Given the description of an element on the screen output the (x, y) to click on. 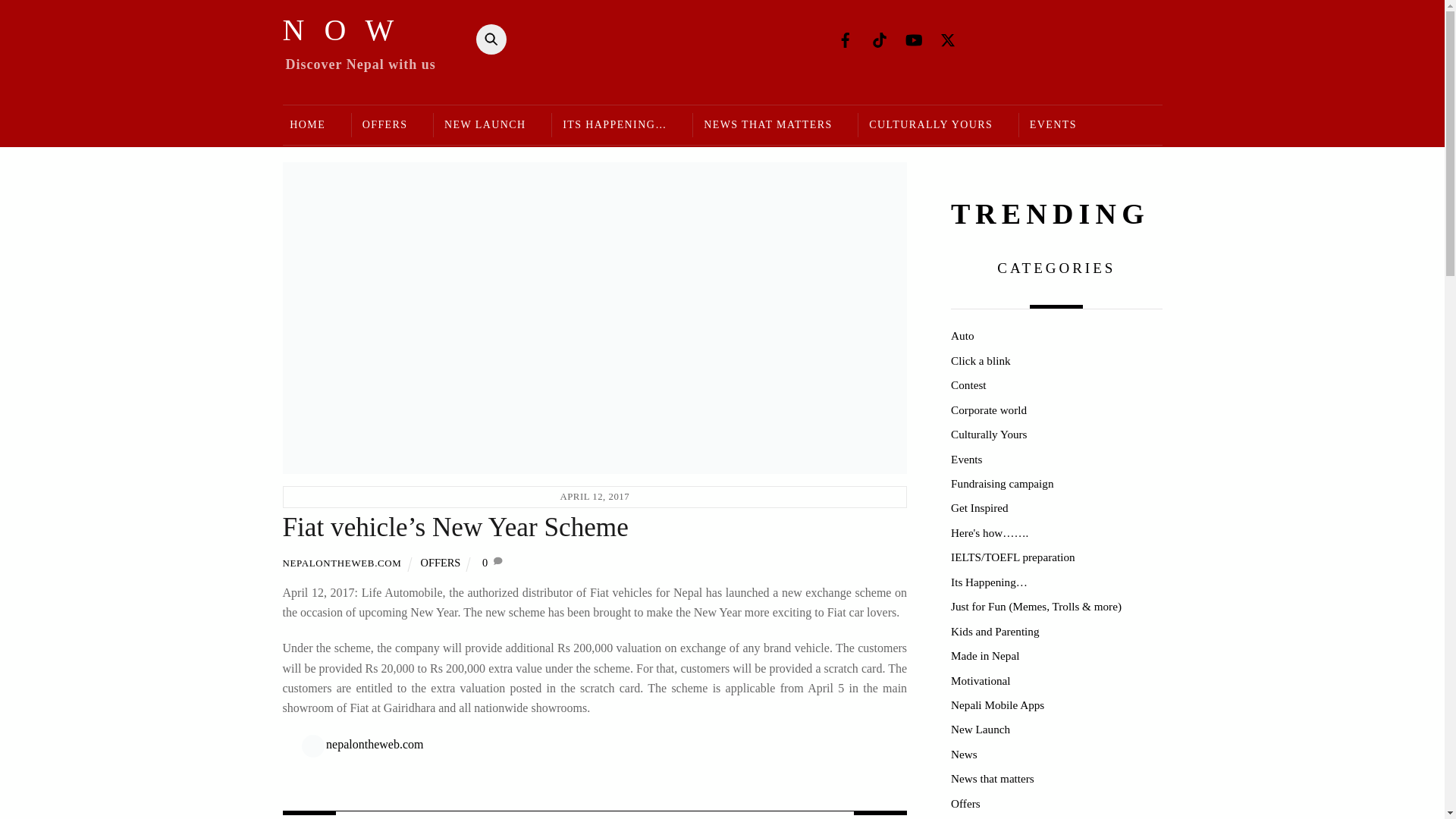
Events (965, 458)
nepalontheweb.com (374, 744)
Auto (962, 335)
CULTURALLY YOURS (930, 125)
OFFERS (384, 125)
N O W (340, 29)
HOME (312, 125)
NEW LAUNCH (483, 125)
Search (486, 39)
Corporate world (988, 409)
